Given the description of an element on the screen output the (x, y) to click on. 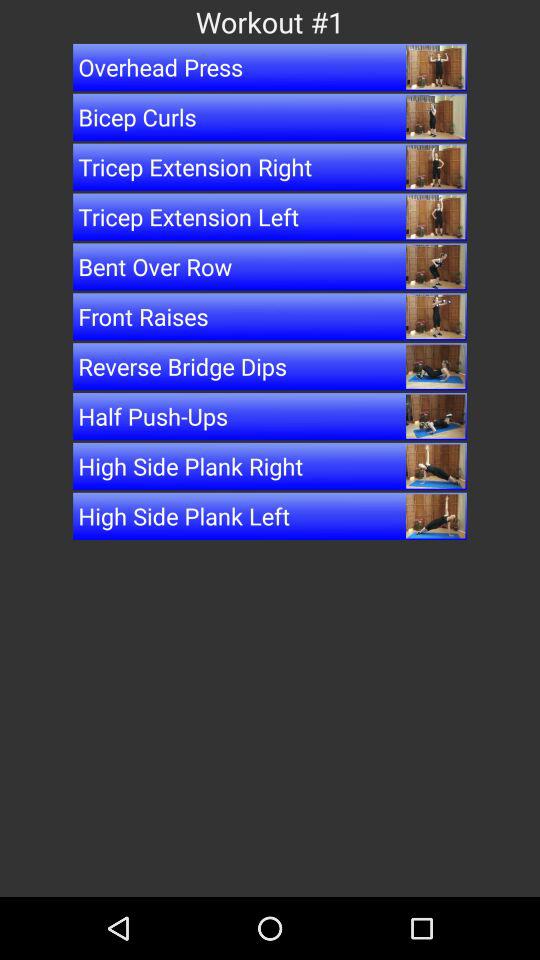
flip until the half push-ups (269, 416)
